Given the description of an element on the screen output the (x, y) to click on. 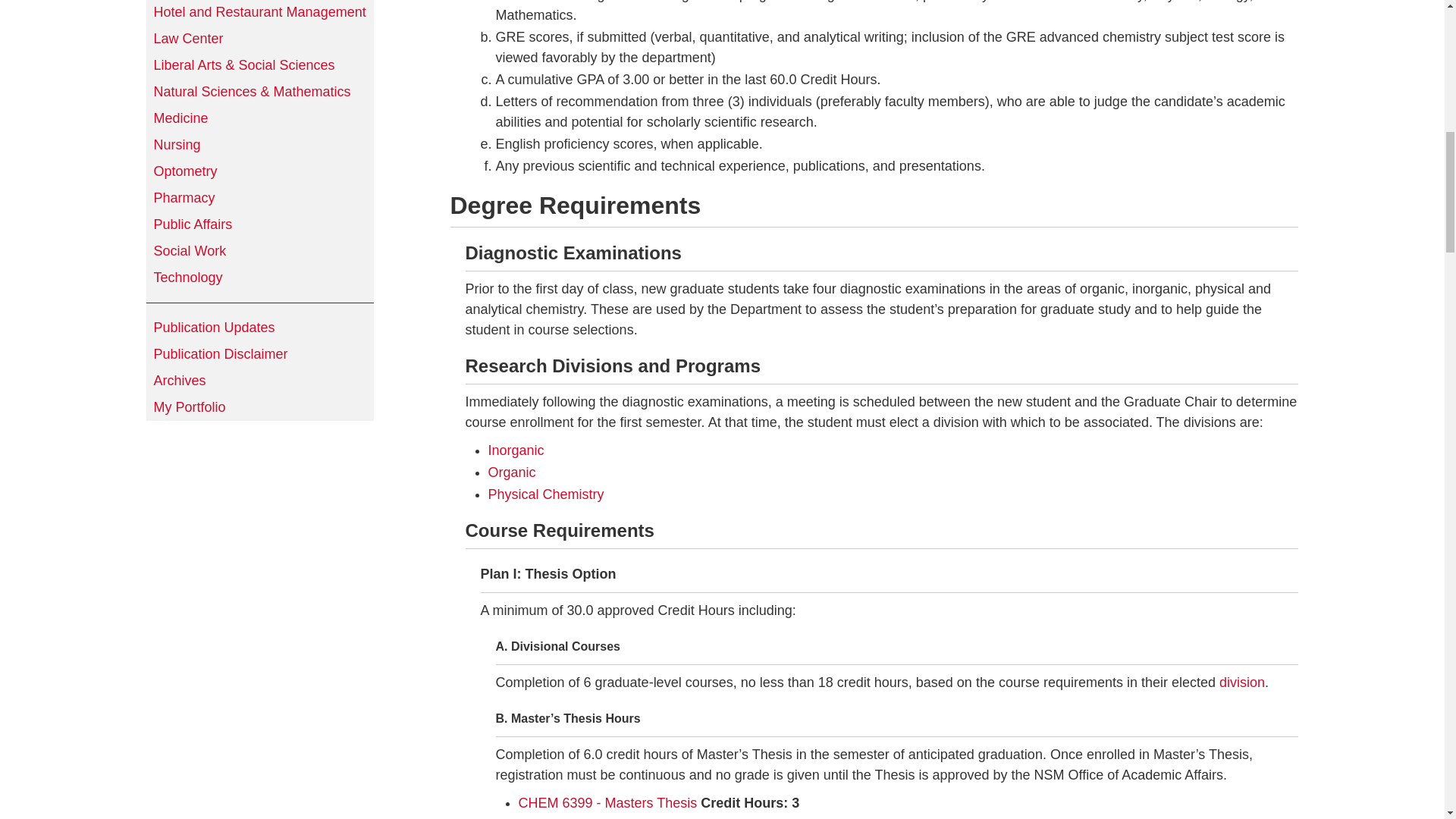
Hotel and Restaurant Management (258, 12)
Law Center (258, 38)
Optometry (258, 171)
Medicine (258, 118)
Nursing (258, 144)
Pharmacy (258, 198)
